Given the description of an element on the screen output the (x, y) to click on. 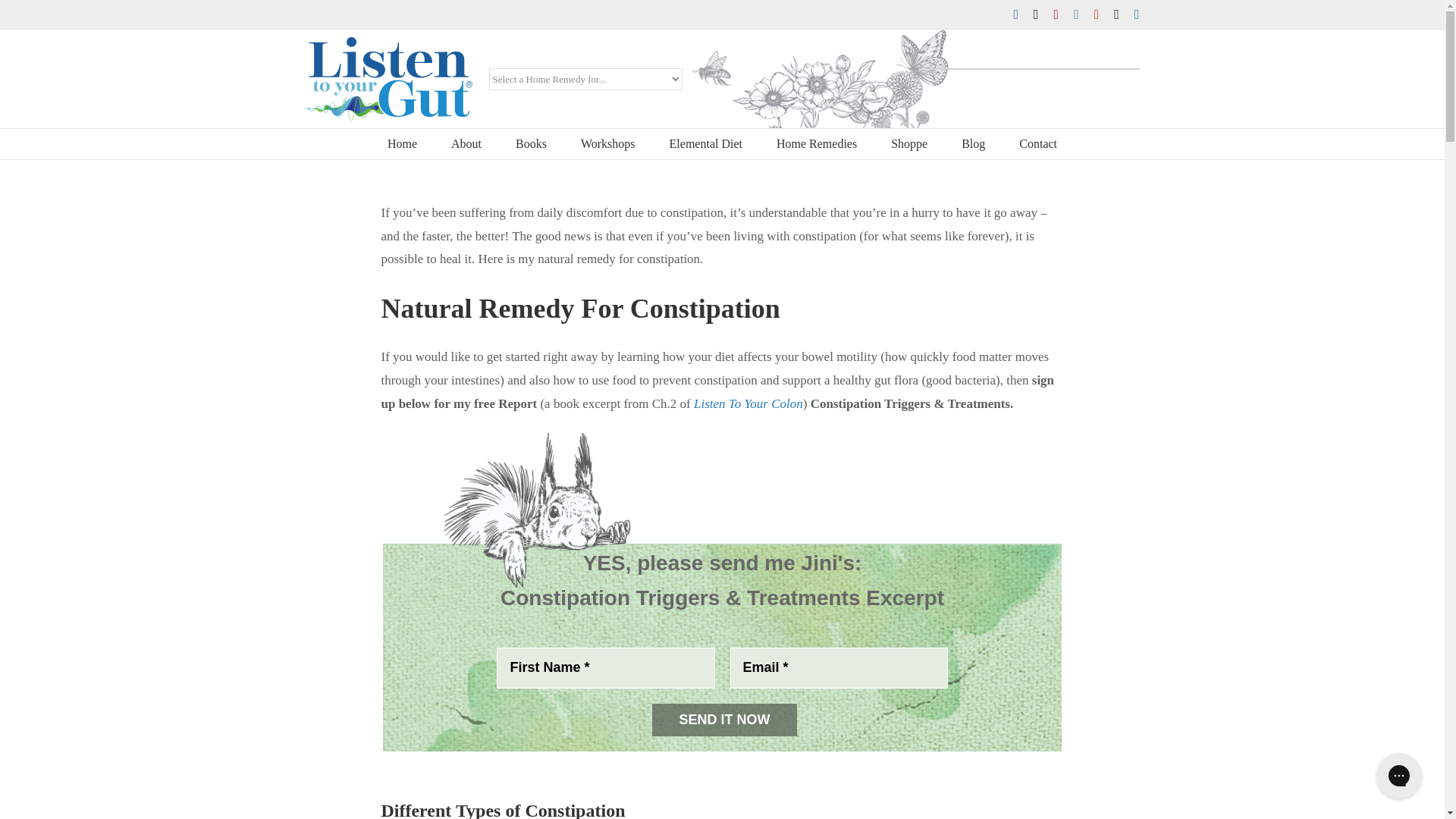
Home Remedies (816, 143)
Pinterest (1056, 14)
Home (401, 143)
Contact (1038, 143)
LinkedIn (1137, 14)
YouTube (1096, 14)
Twitter (1036, 14)
Pinterest (1056, 14)
Workshops (607, 143)
Instagram (1076, 14)
Shoppe (909, 143)
Gorgias live chat messenger (1398, 775)
YouTube (1096, 14)
Tiktok (1116, 14)
About (466, 143)
